Given the description of an element on the screen output the (x, y) to click on. 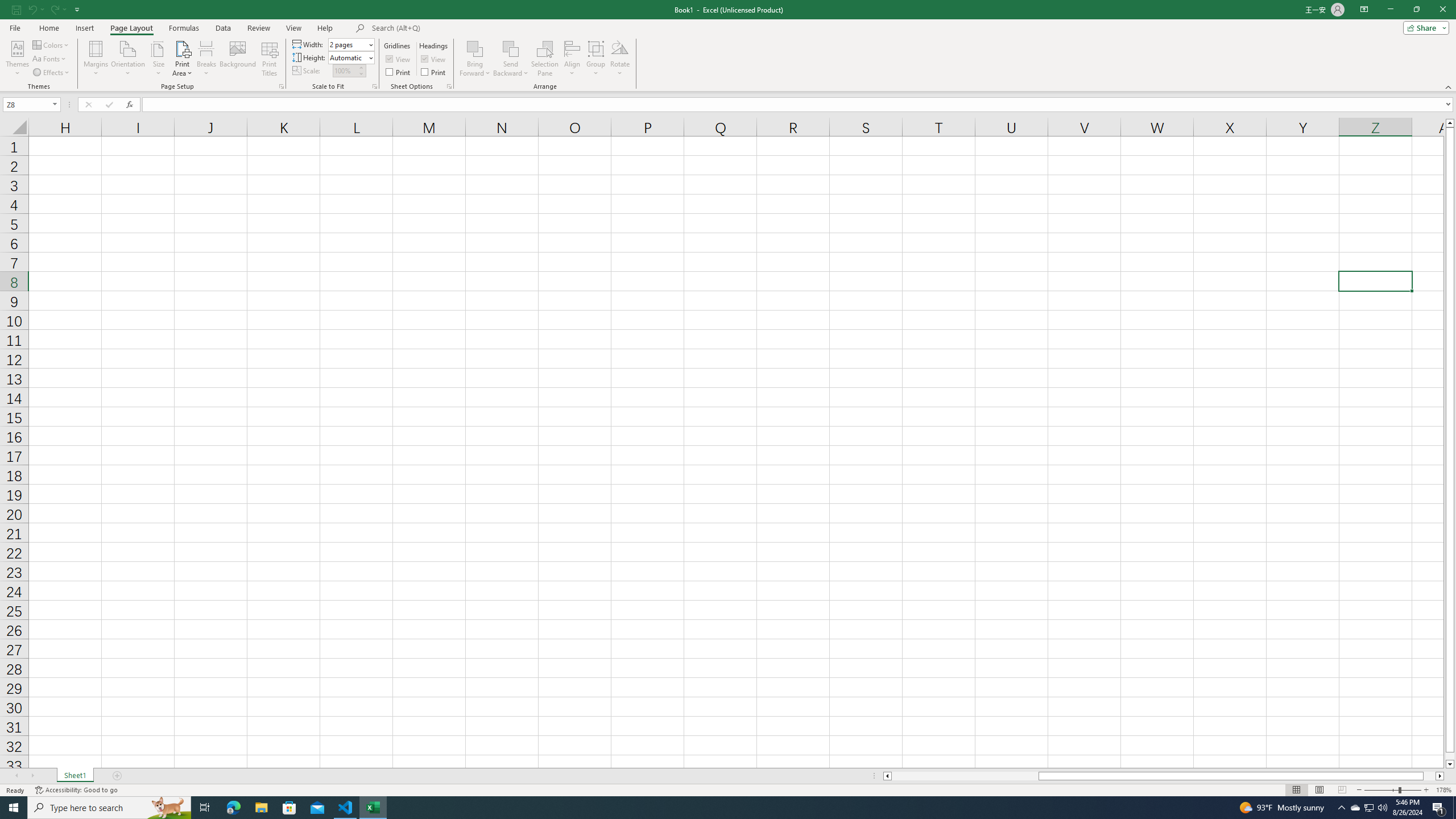
Bring Forward (475, 58)
Size (158, 58)
Breaks (206, 58)
Sheet Options (449, 85)
Scale (344, 70)
